Given the description of an element on the screen output the (x, y) to click on. 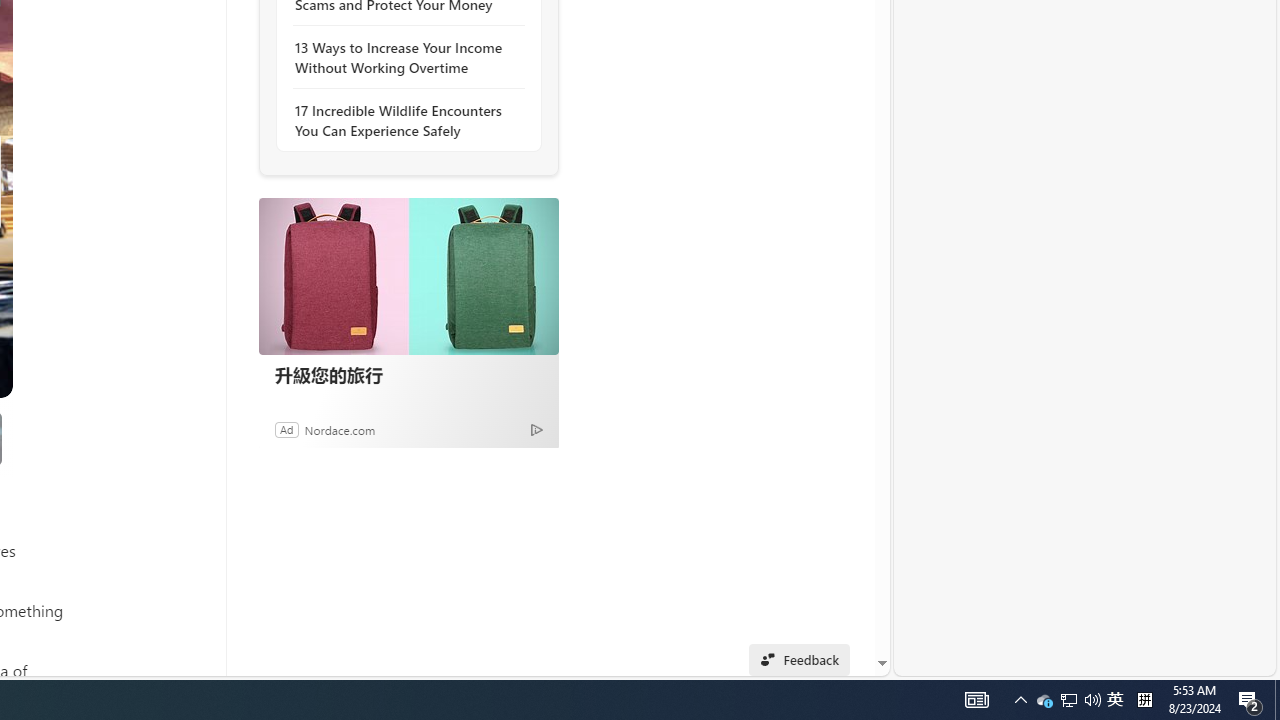
Feedback (798, 659)
17 Incredible Wildlife Encounters You Can Experience Safely (403, 120)
Nordace.com (339, 429)
Ad Choice (535, 429)
13 Ways to Increase Your Income Without Working Overtime (403, 57)
Ad (286, 429)
